Given the description of an element on the screen output the (x, y) to click on. 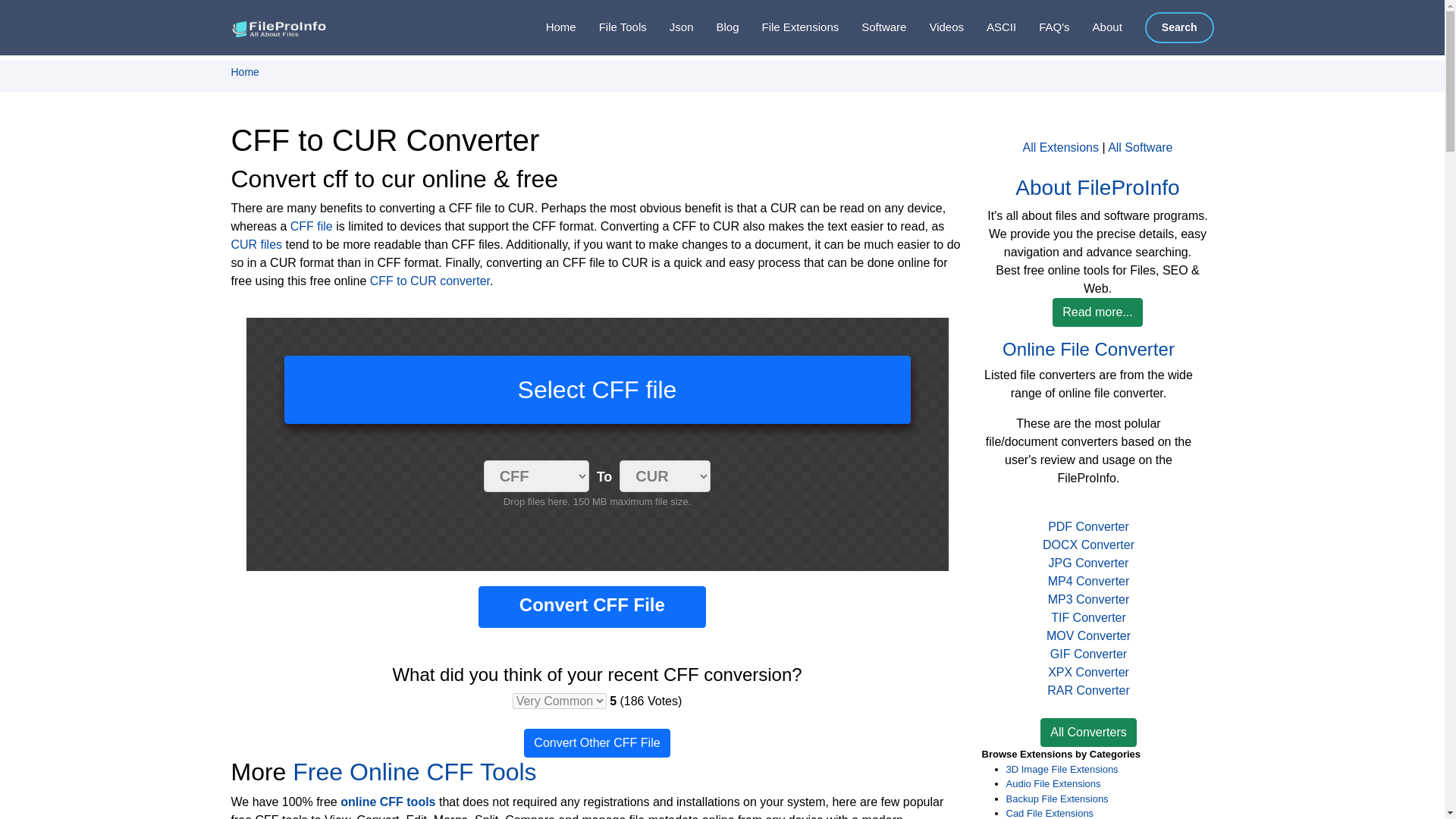
FileProInfo.com (280, 26)
Blog (715, 27)
Select CFF file (596, 389)
Software (871, 27)
File Tools (611, 27)
Home (244, 71)
About (1096, 27)
Convert Other CFF File (596, 742)
Search (1179, 27)
Software (871, 27)
